Given the description of an element on the screen output the (x, y) to click on. 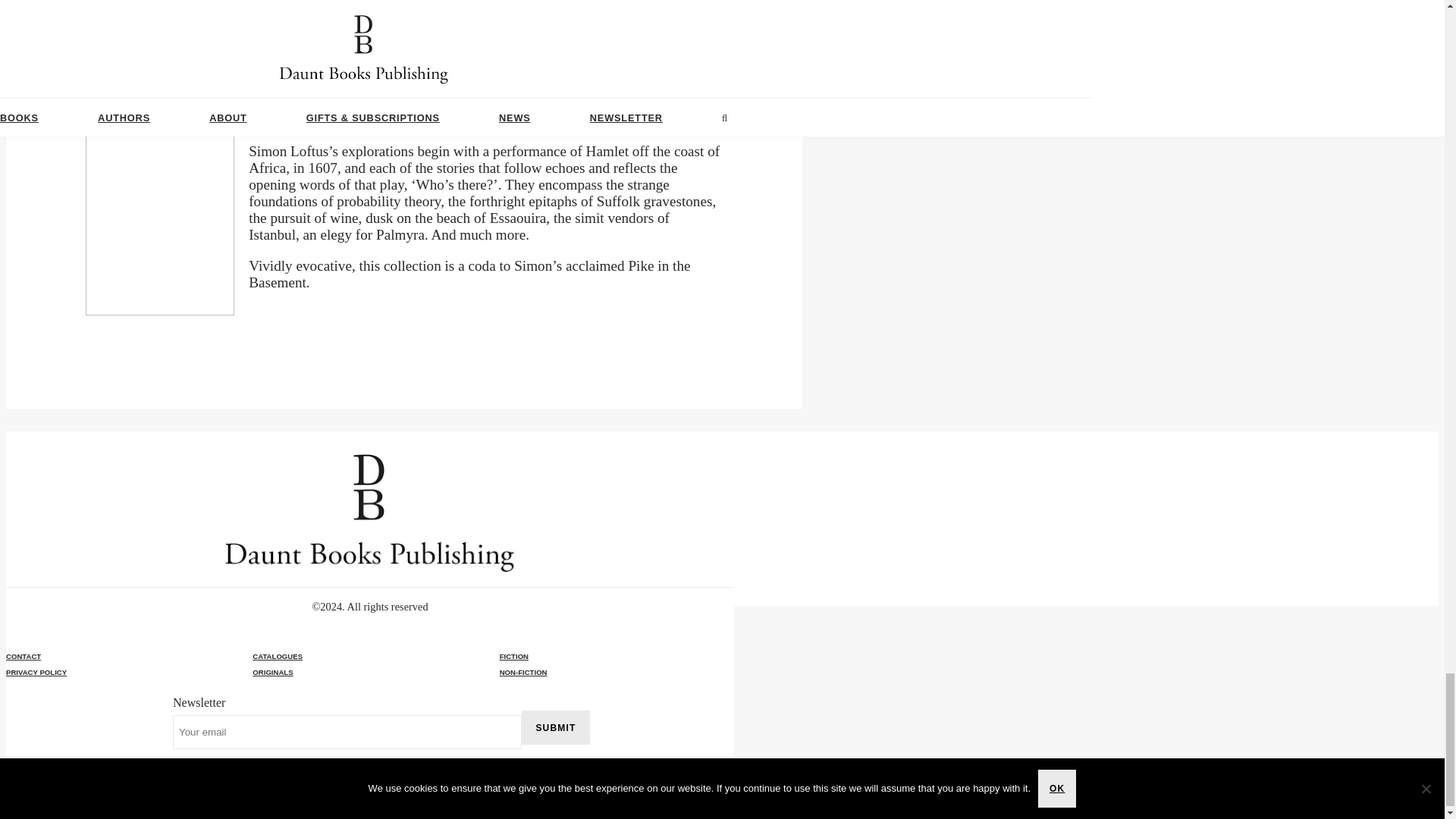
PRIVACY POLICY (35, 672)
SUBMIT (555, 727)
CATALOGUES (276, 655)
Website design (35, 783)
CONTACT (22, 655)
NON-FICTION (616, 672)
ORIGINALS (368, 672)
FICTION (616, 655)
